Given the description of an element on the screen output the (x, y) to click on. 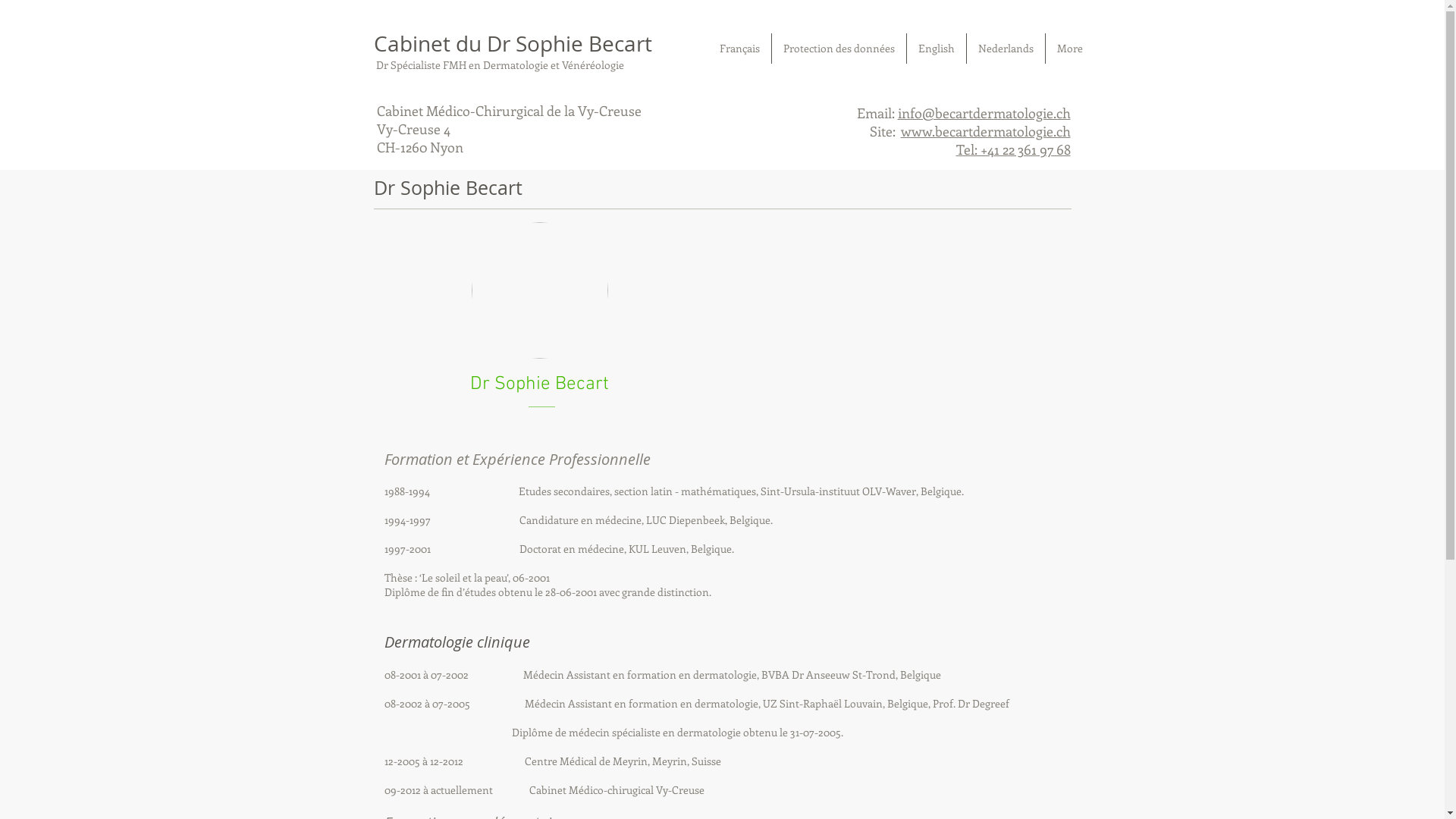
www.becartdermatologie.ch Element type: text (985, 131)
Nederlands Element type: text (1005, 48)
SophieSmall.JPG Element type: hover (539, 290)
info@becartdermatologie.ch Element type: text (983, 112)
English Element type: text (936, 48)
Cabinet du Dr Sophie Becart Element type: text (512, 43)
